Given the description of an element on the screen output the (x, y) to click on. 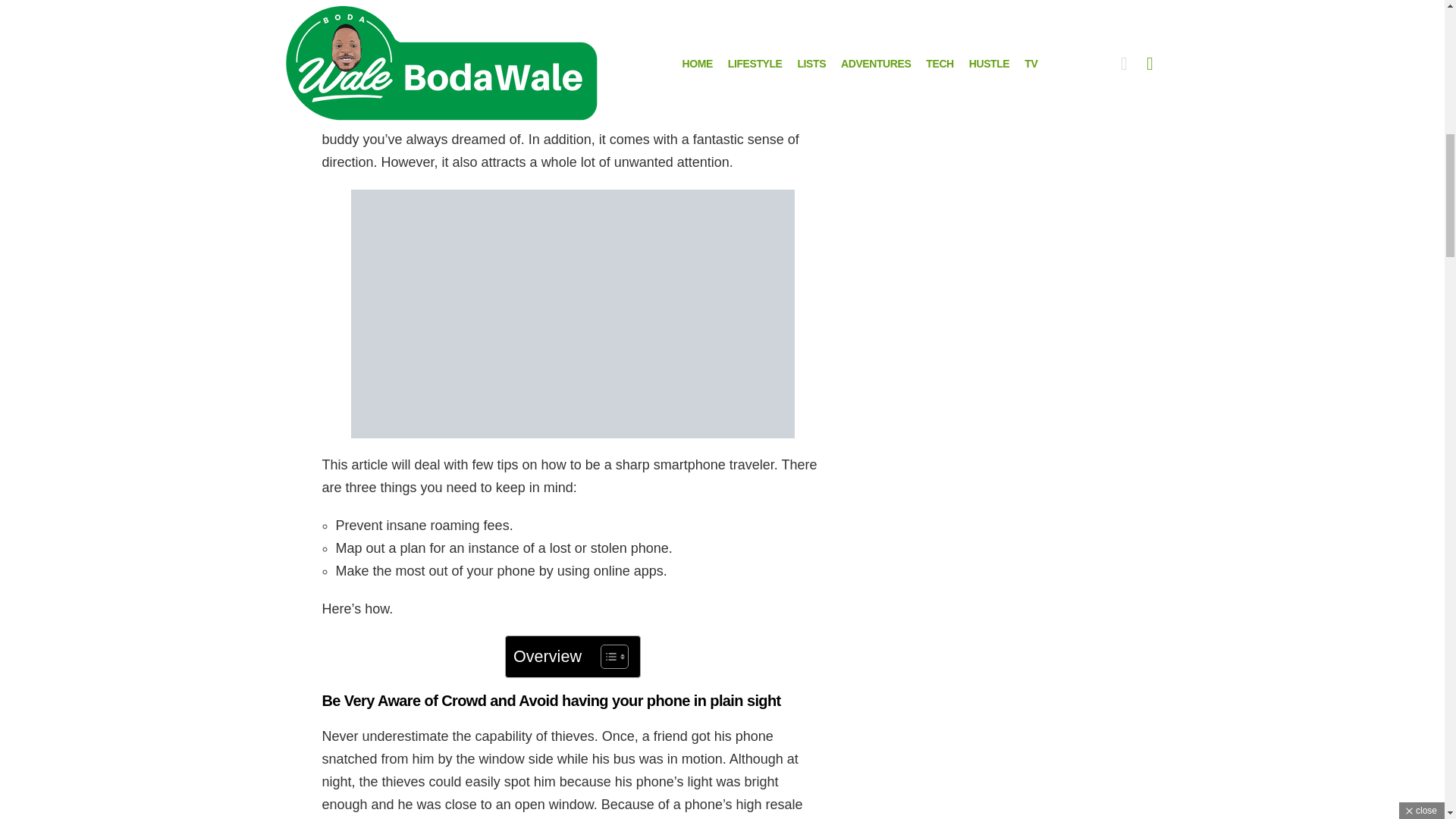
Facebook (382, 48)
WhatsApp (759, 48)
Pinterest (634, 48)
Naira web hosting (573, 6)
X (507, 48)
